Given the description of an element on the screen output the (x, y) to click on. 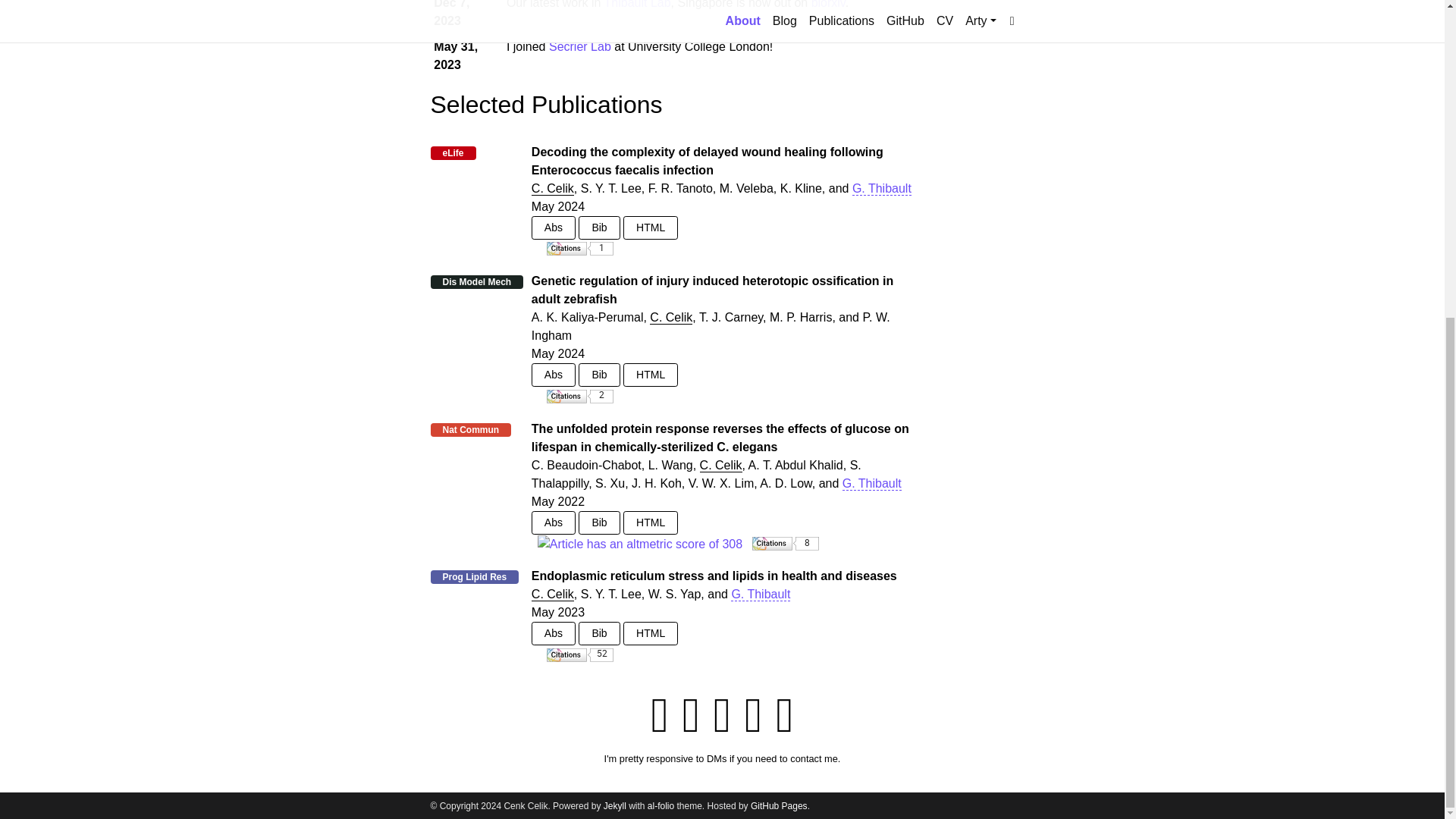
biorxiv (827, 4)
Selected Publications (546, 103)
G. Thibault (872, 483)
Abs (553, 374)
Abs (553, 227)
Nat Commun (470, 429)
Prog Lipid Res (474, 576)
Secrier Lab (579, 46)
Bib (599, 374)
Dis Model Mech (477, 281)
